Given the description of an element on the screen output the (x, y) to click on. 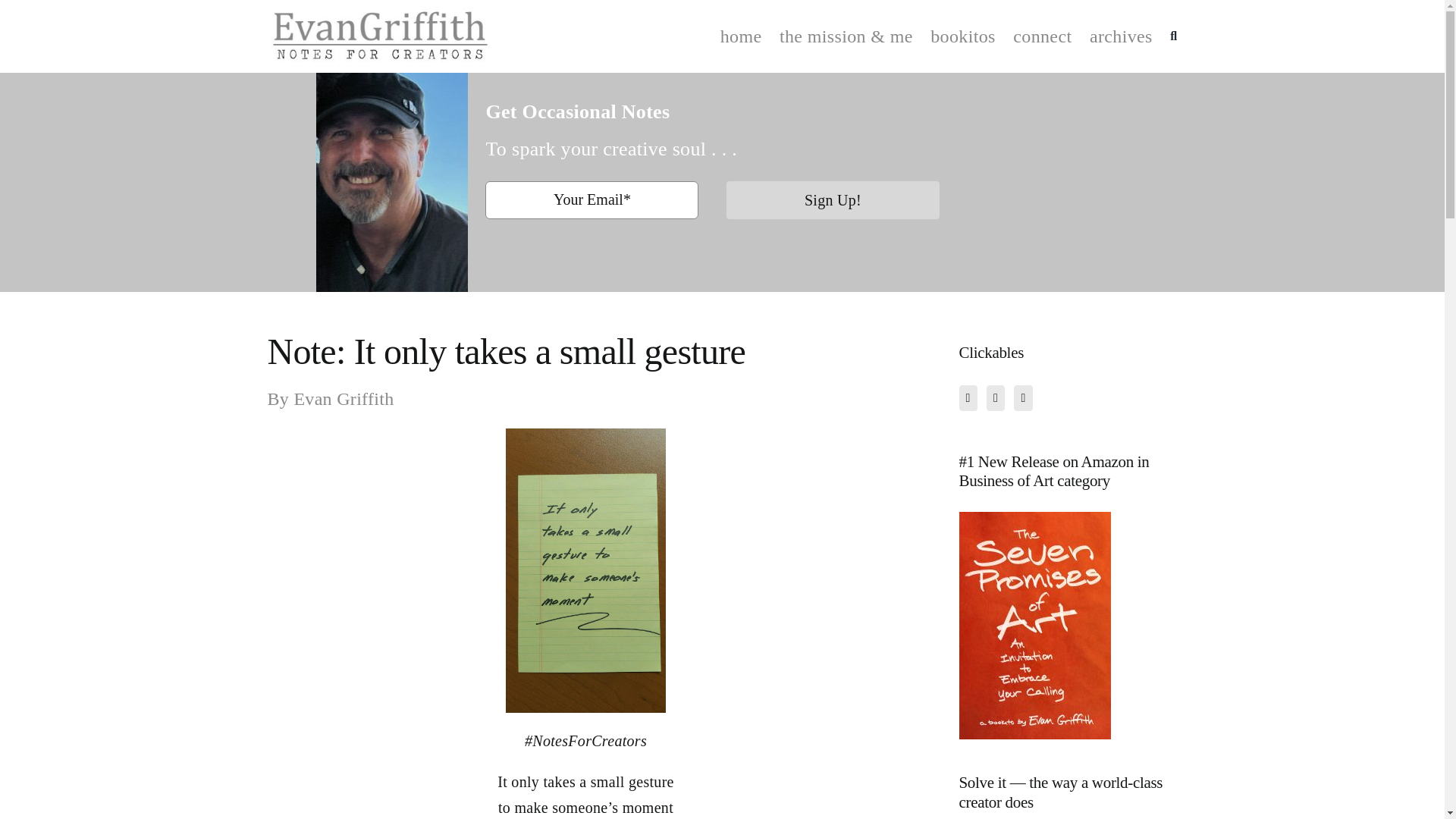
bookitos (962, 36)
Evan Griffith (585, 375)
Sign Up! (343, 398)
Sign Up! (831, 208)
Posts by Evan Griffith (832, 199)
